Given the description of an element on the screen output the (x, y) to click on. 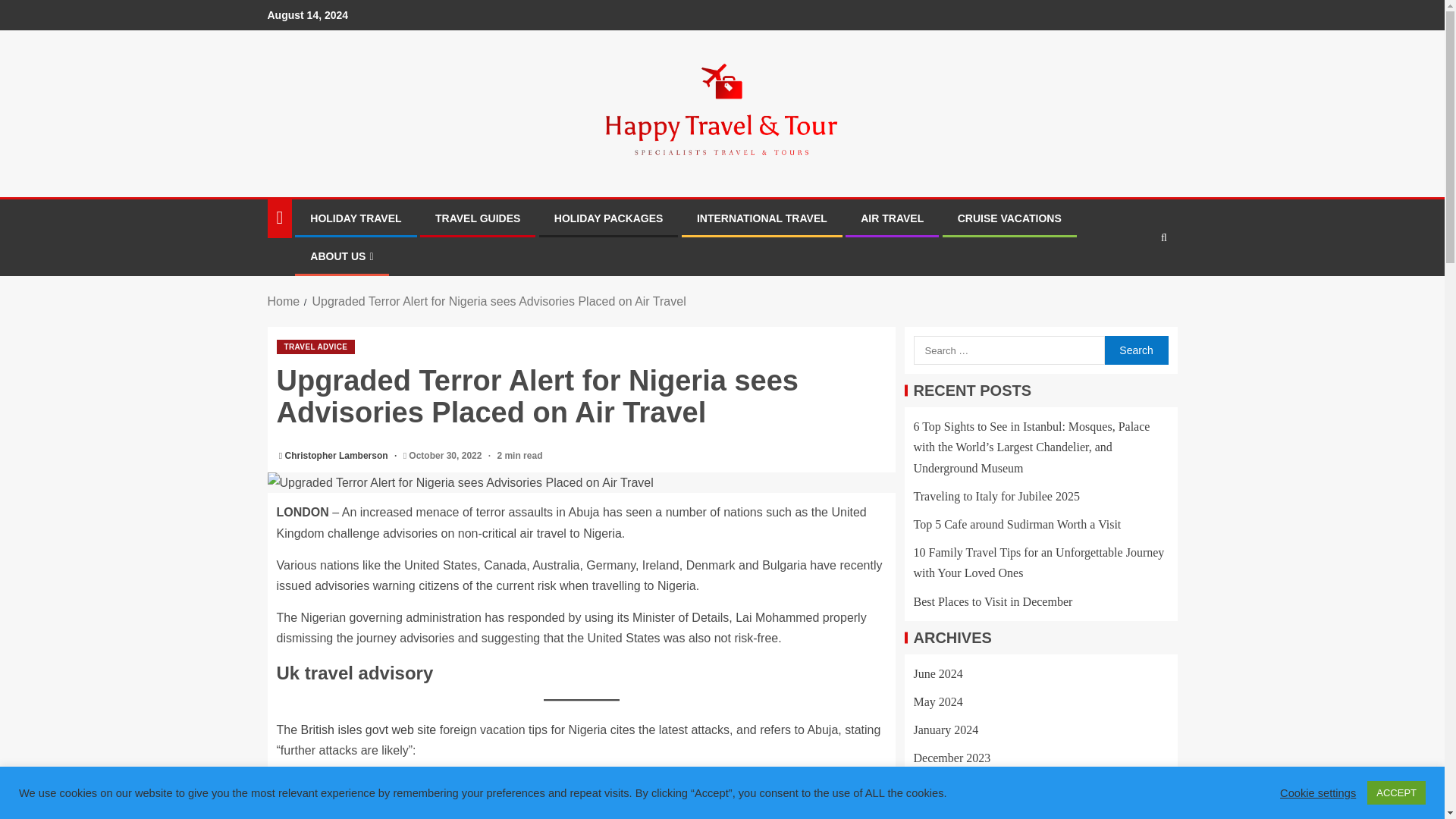
Home (282, 300)
CRUISE VACATIONS (1009, 218)
TRAVEL GUIDES (477, 218)
HOLIDAY PACKAGES (608, 218)
HOLIDAY TRAVEL (355, 218)
TRAVEL ADVICE (315, 346)
Search (1133, 284)
British isles govt web site (368, 729)
